Given the description of an element on the screen output the (x, y) to click on. 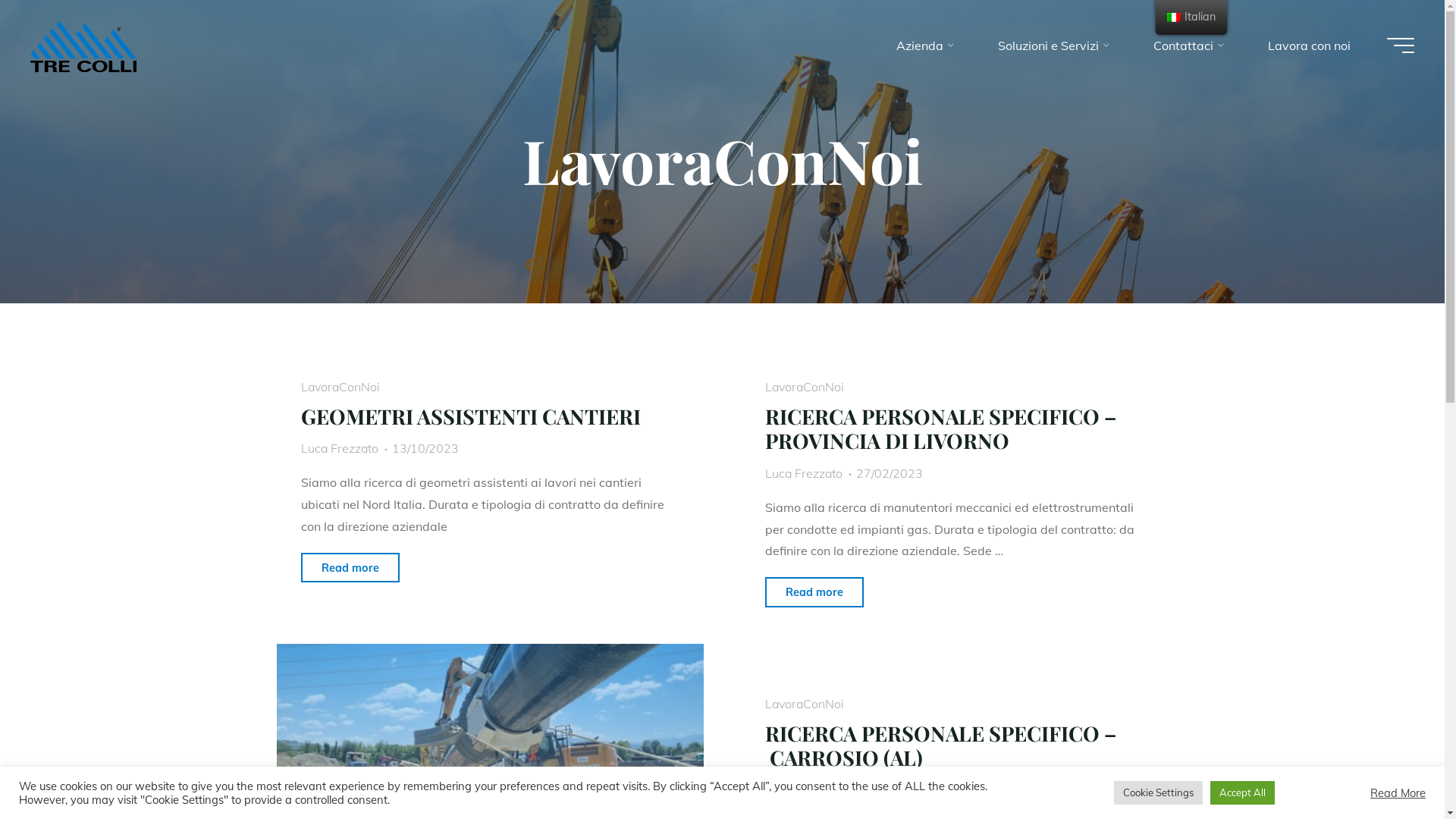
Italian Element type: text (1190, 17)
web@3colli.com Element type: text (810, 789)
Impresa Tre Colli S.p.A. Element type: hover (83, 45)
Leggi tutto Element type: hover (721, 210)
Accept All Element type: text (1242, 792)
Read more
"GEOMETRI ASSISTENTI CANTIERI" Element type: text (350, 567)
LavoraConNoi Element type: text (804, 386)
LavoraConNoi Element type: text (340, 386)
LavoraConNoi Element type: text (804, 703)
Soluzioni e Servizi Element type: text (1051, 45)
Luca Frezzato Element type: text (339, 447)
Contattaci Element type: text (1186, 45)
Cookie Settings Element type: text (1157, 792)
Lavora con noi Element type: text (1308, 45)
Azienda Element type: text (922, 45)
GEOMETRI ASSISTENTI CANTIERI Element type: text (470, 415)
Luca Frezzato Element type: text (803, 472)
Read More Element type: text (1397, 792)
Italian Element type: hover (1173, 16)
